Given the description of an element on the screen output the (x, y) to click on. 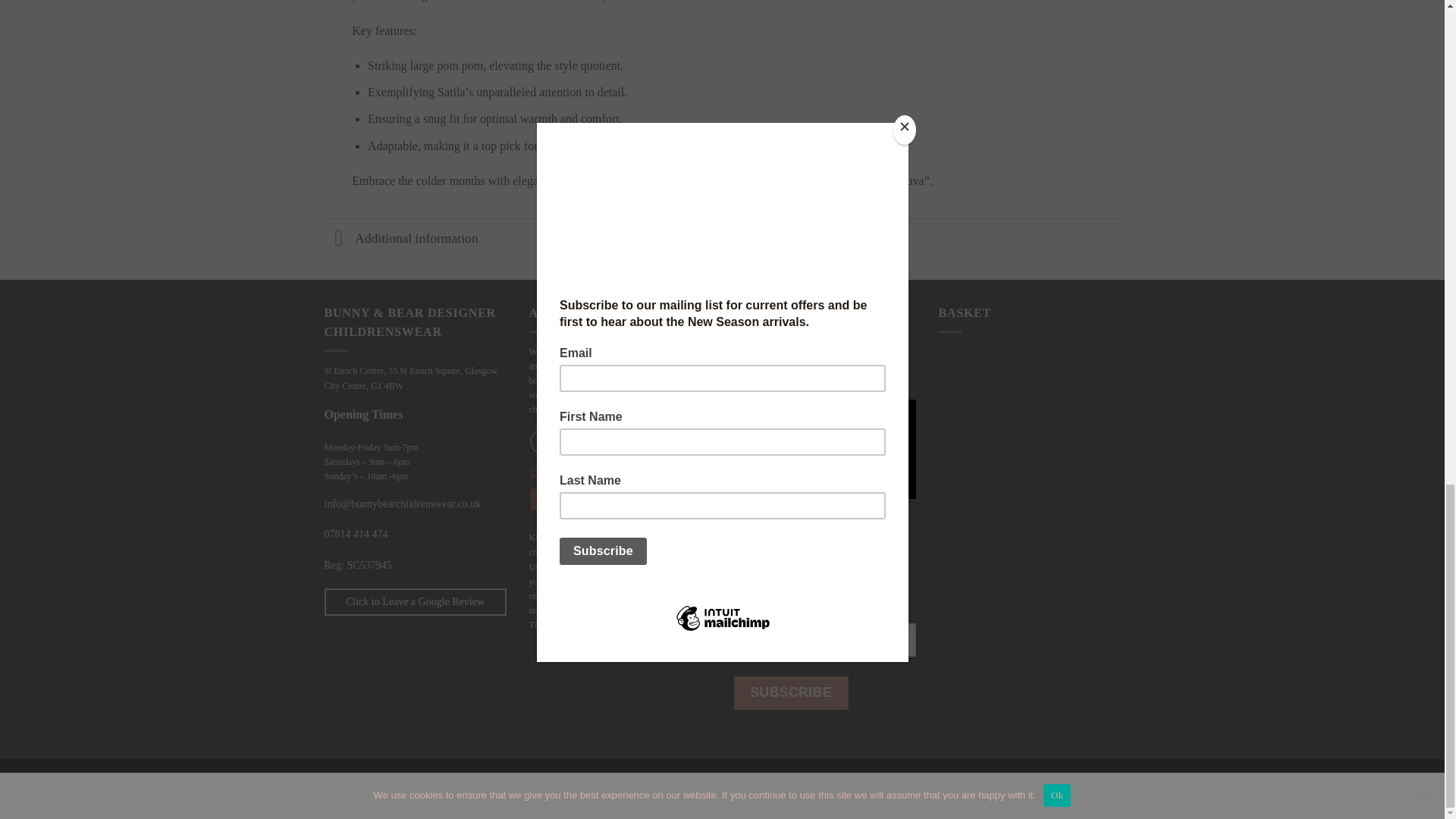
Follow on Twitter (597, 441)
Send us an email (624, 441)
Subscribe (790, 693)
Follow on Instagram (569, 441)
Follow on Facebook (541, 441)
